Given the description of an element on the screen output the (x, y) to click on. 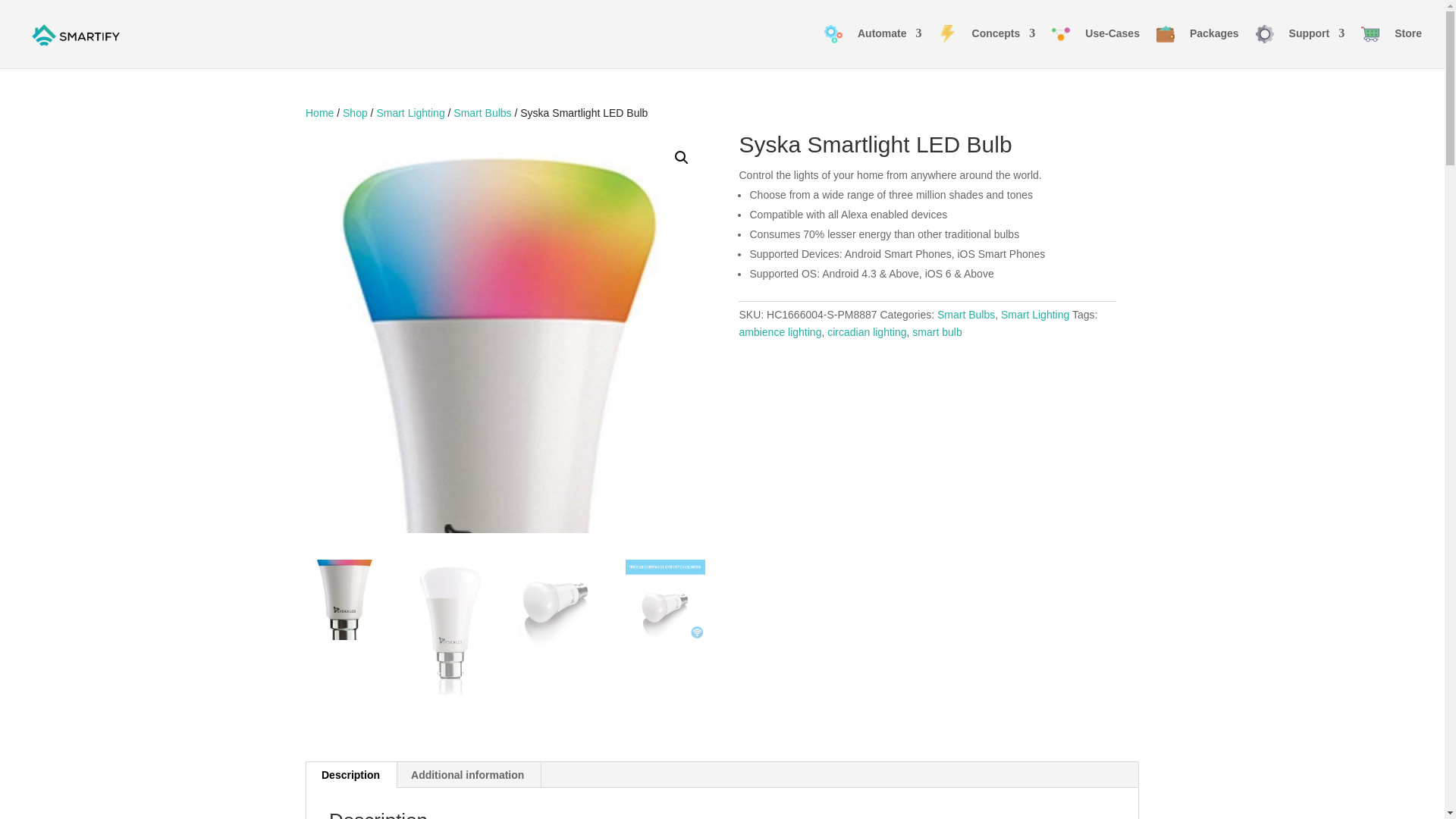
Use-Cases (1095, 46)
Store (1391, 46)
Support (1300, 46)
Packages (1197, 46)
Automate (872, 46)
Concepts (987, 46)
